Given the description of an element on the screen output the (x, y) to click on. 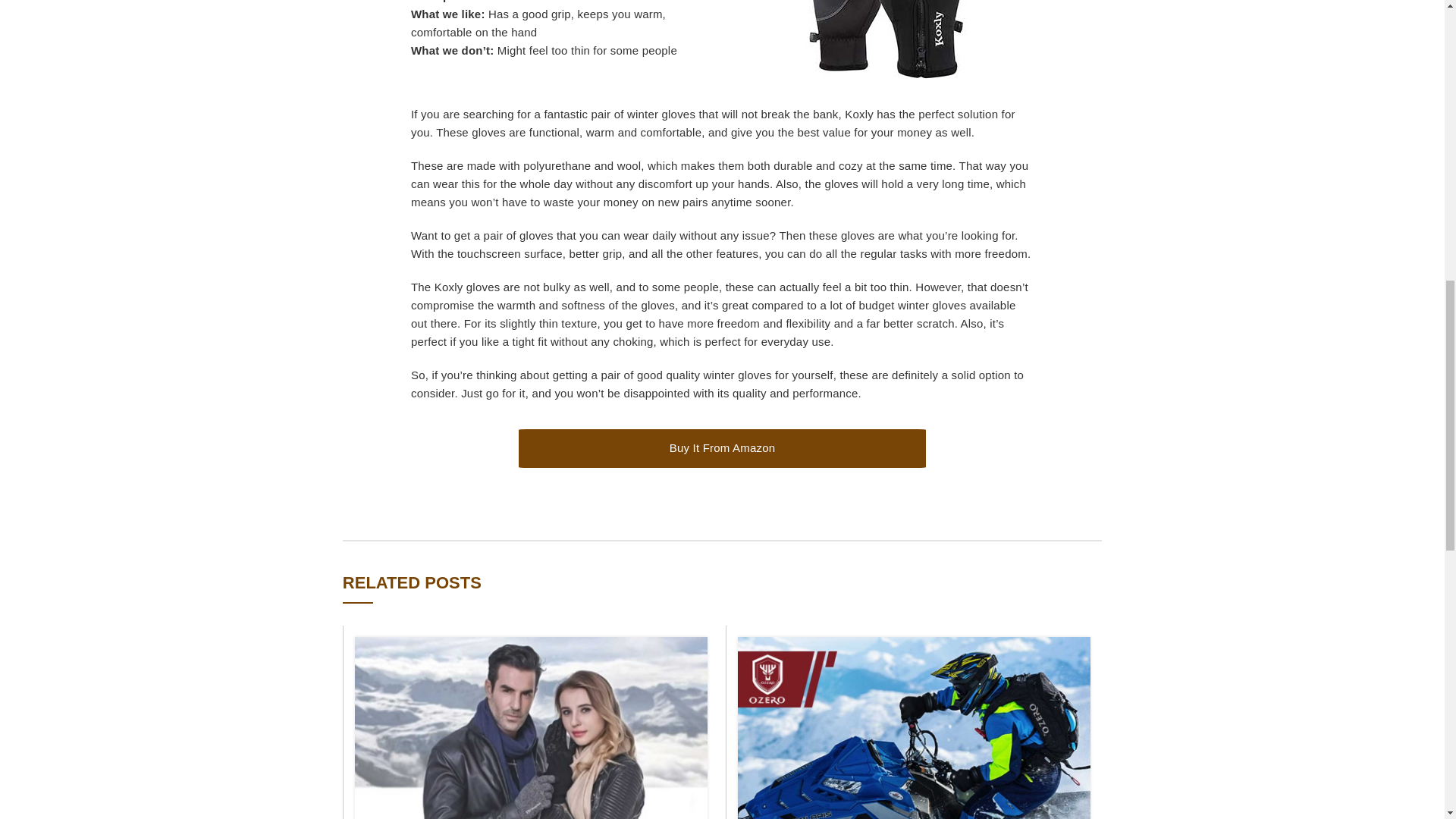
Koxly-Touch-Screen-Fingers-Warm-Winter-Gloves1 (883, 39)
